Given the description of an element on the screen output the (x, y) to click on. 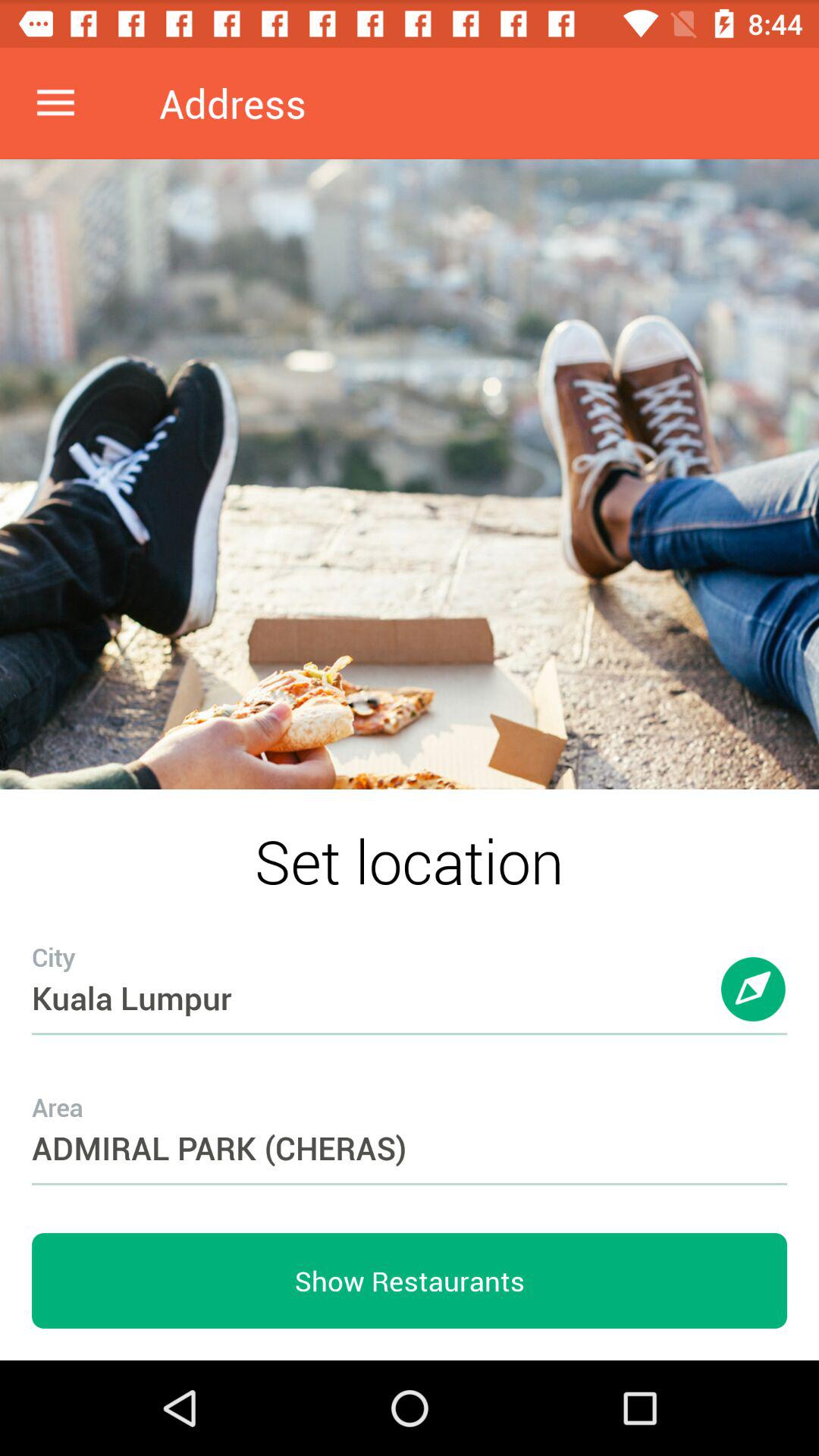
launch the show restaurants item (409, 1280)
